Given the description of an element on the screen output the (x, y) to click on. 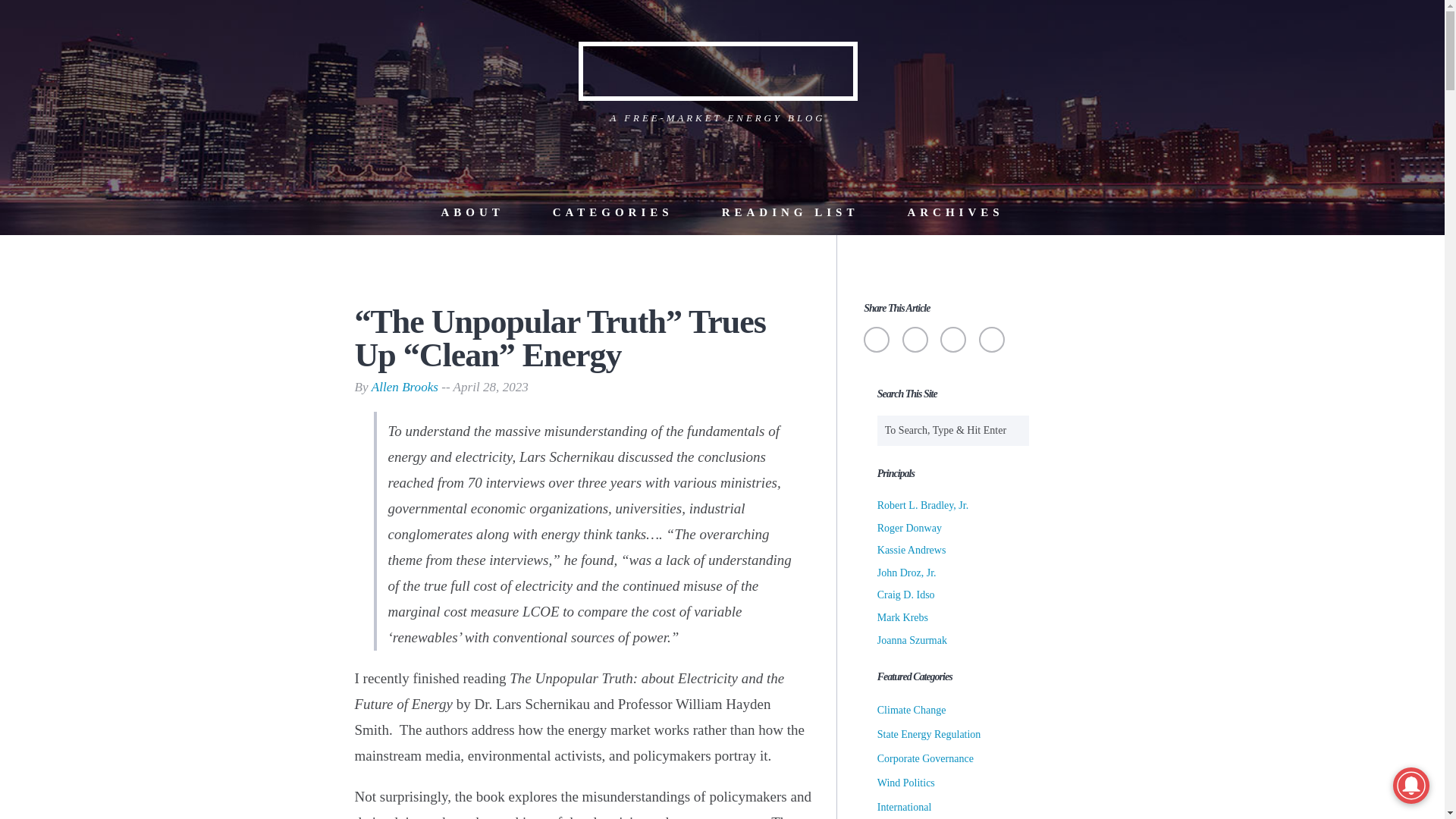
Joanna Szurmak (912, 640)
International (904, 807)
ARCHIVES (954, 212)
Corporate Governance (925, 758)
Allen Brooks (404, 386)
State Energy Regulation (929, 734)
Robert L. Bradley, Jr. (922, 505)
Roger Donway (909, 527)
Craig D. Idso (905, 594)
ABOUT (471, 212)
